Given the description of an element on the screen output the (x, y) to click on. 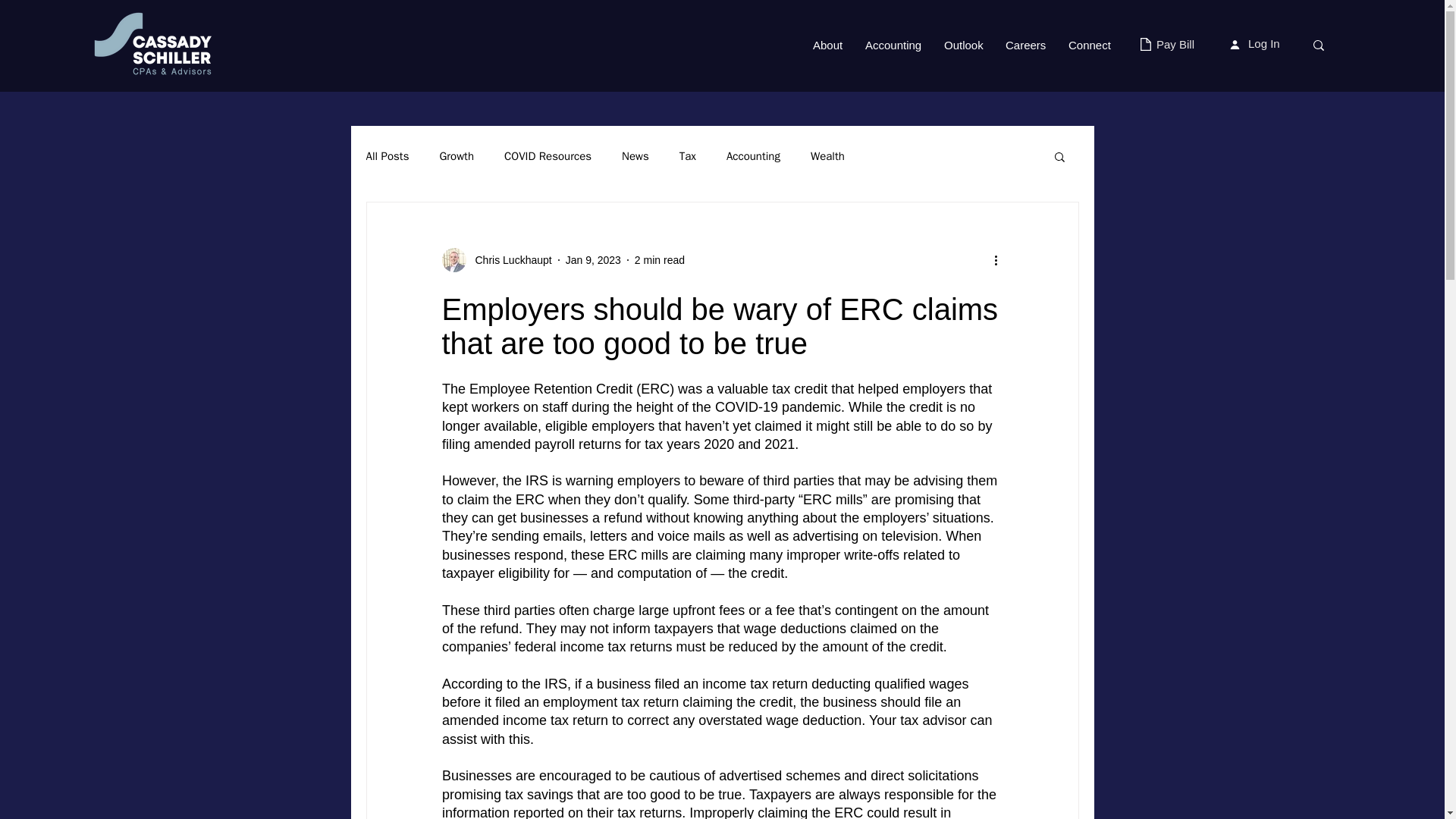
Careers (1025, 45)
Wealth (827, 155)
All Posts (387, 155)
Chris Luckhaupt (496, 259)
COVID Resources (547, 155)
Tax (687, 155)
Connect (1089, 45)
2 min read (659, 259)
Outlook (963, 45)
Growth (456, 155)
Pay Bill (1174, 43)
Chris  Luckhaupt (508, 259)
News (635, 155)
Accounting (753, 155)
Jan 9, 2023 (593, 259)
